Given the description of an element on the screen output the (x, y) to click on. 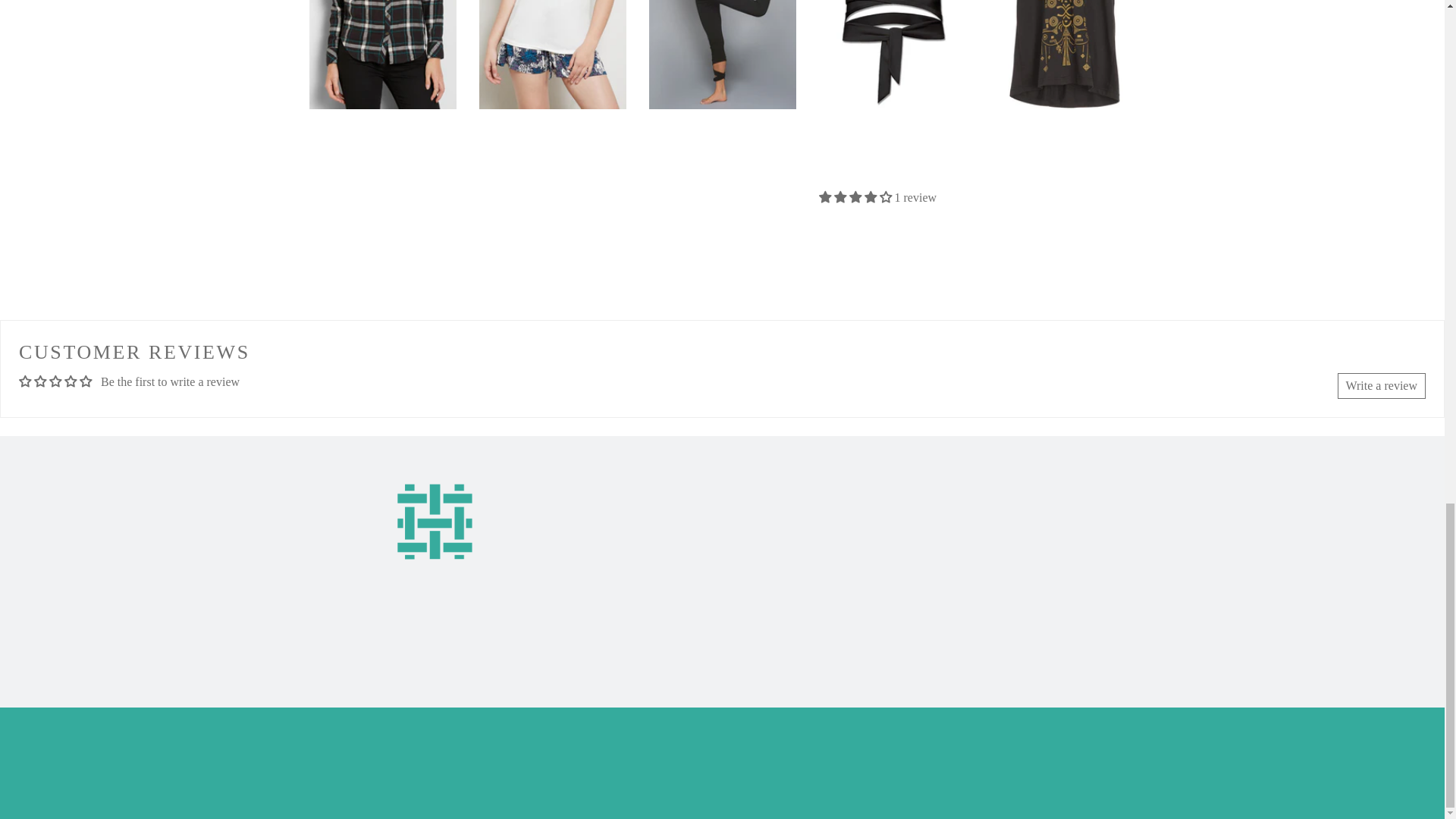
Good Cloth on Instagram (920, 615)
Good Cloth on Facebook (919, 553)
Good Cloth on Pinterest (917, 584)
Good Cloth on Twitter (913, 522)
